Given the description of an element on the screen output the (x, y) to click on. 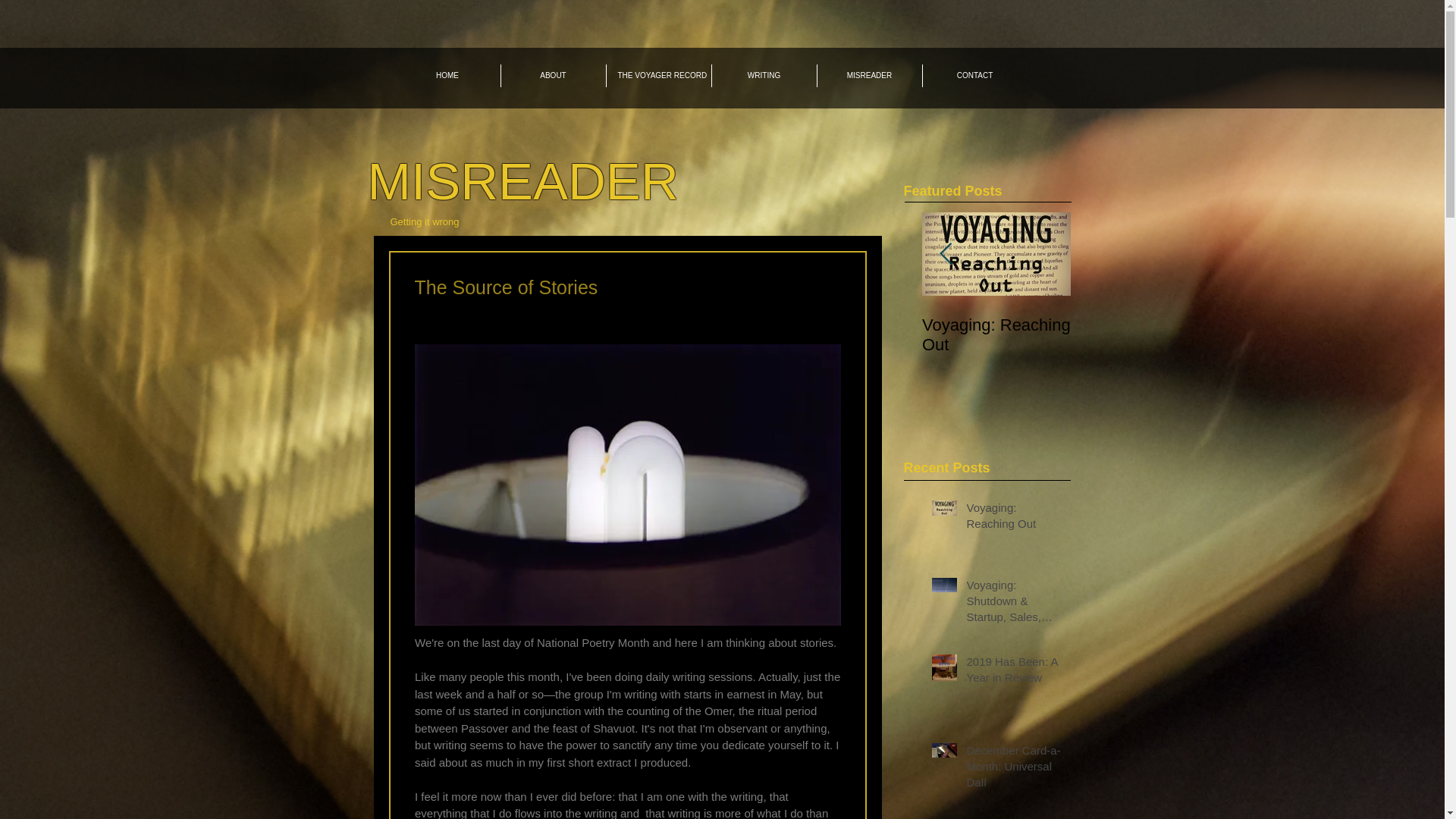
2019 Has Been: A Year in Review (1294, 334)
MISREADER (522, 181)
Getting it wrong (424, 221)
ABOUT (552, 75)
CONTACT (973, 75)
Voyaging: Reaching Out (995, 334)
HOME (446, 75)
WRITING (763, 75)
MISREADER (868, 75)
THE VOYAGER RECORD (659, 75)
